Given the description of an element on the screen output the (x, y) to click on. 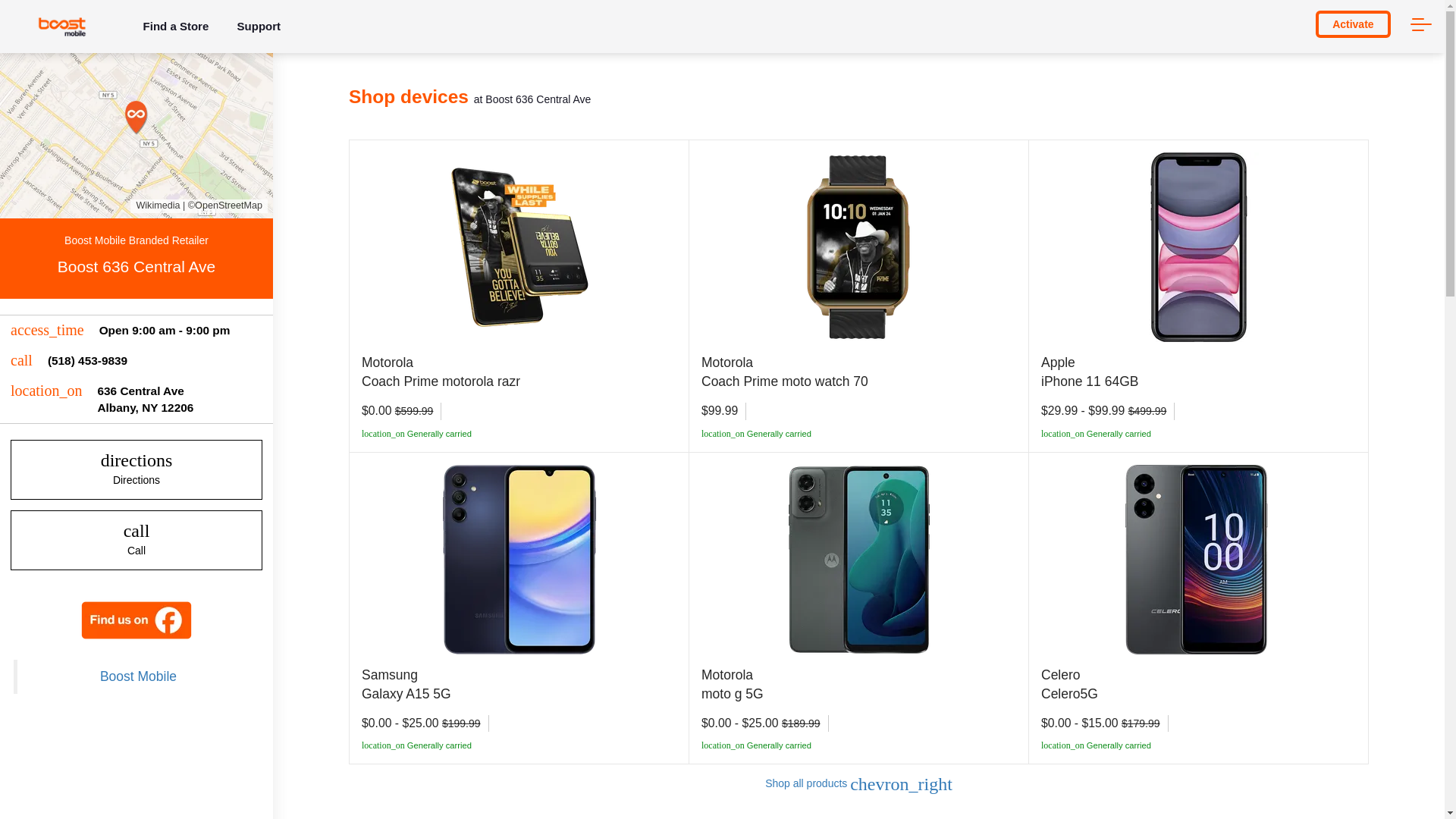
Wikimedia (159, 205)
Find a Store (175, 25)
Activate (1353, 23)
Celero5G at Boost 636 Central Ave (136, 540)
Open Hours: (1198, 559)
Support (164, 330)
Coach Prime moto watch 70 at Boost 636 Central Ave (136, 469)
moto g 5G at Boost 636 Central Ave (145, 399)
Boost Mobile (259, 25)
Galaxy A15 5G at Boost 636 Central Ave (858, 247)
